Given the description of an element on the screen output the (x, y) to click on. 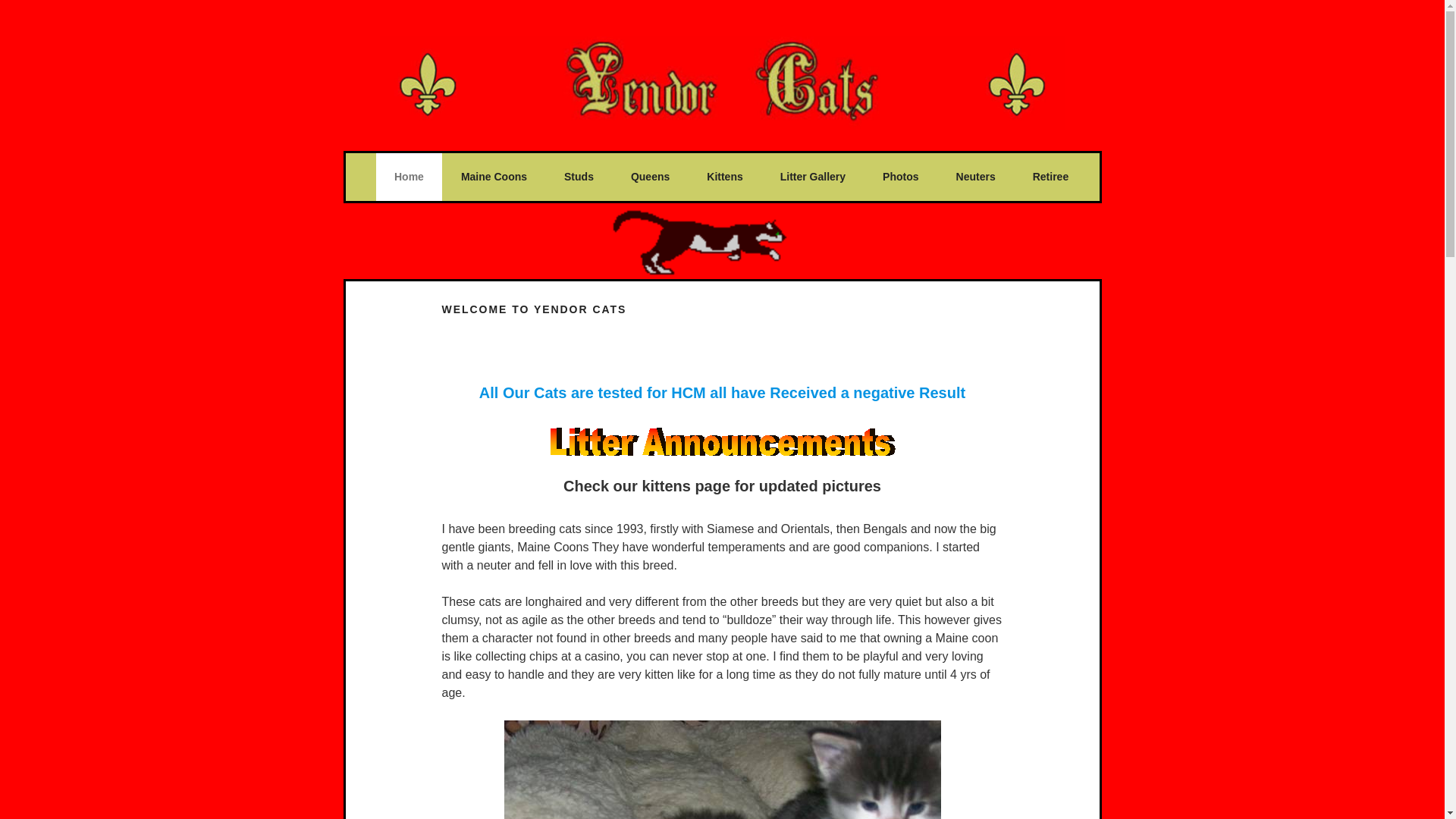
Maine Coons (493, 176)
Kittens (724, 176)
Retiree (1050, 176)
Photos (900, 176)
Queens (649, 176)
Neuters (975, 176)
Litter Gallery (813, 176)
Studs (579, 176)
Home (408, 176)
